Given the description of an element on the screen output the (x, y) to click on. 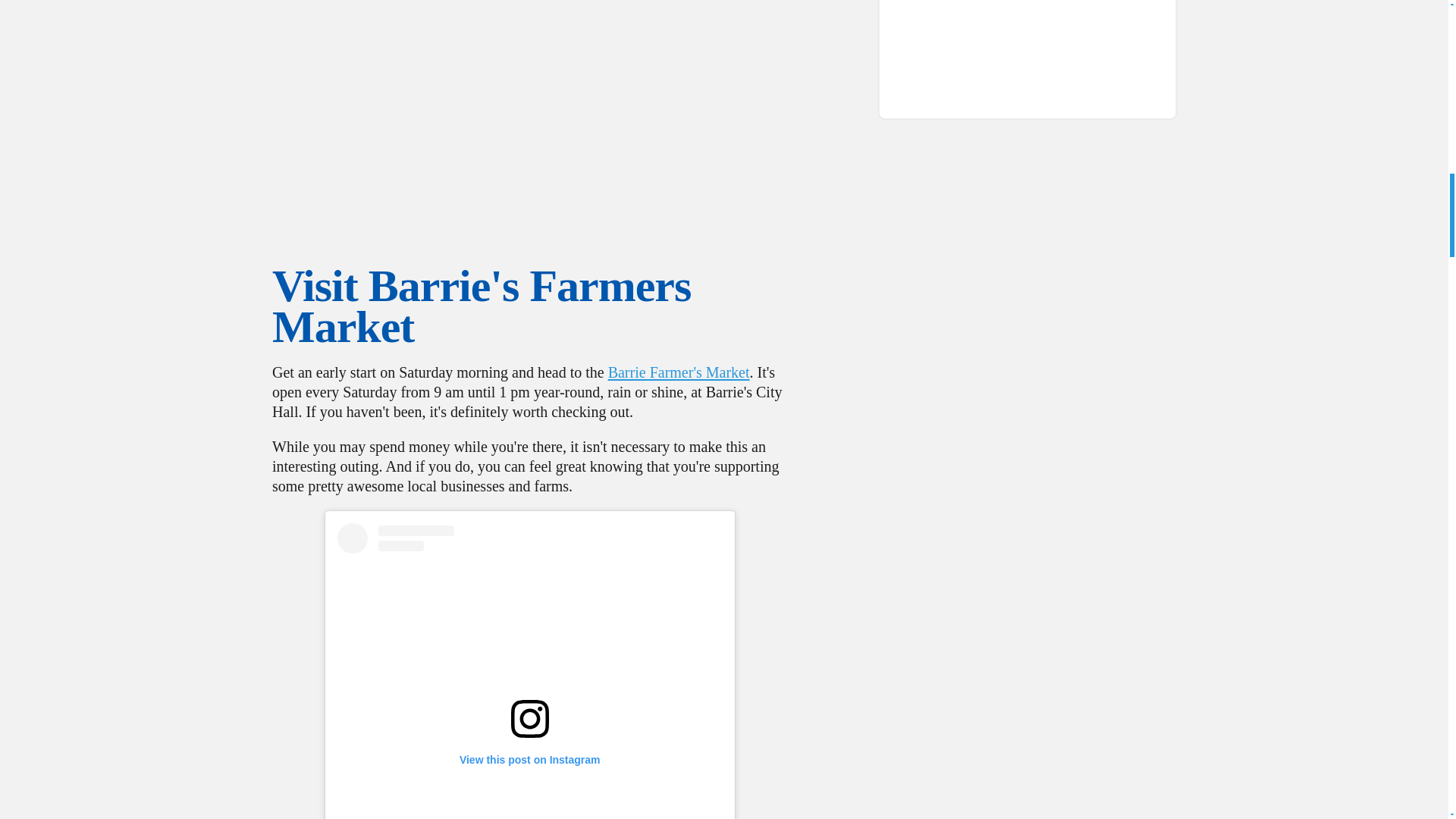
YouTube video player (529, 107)
